Given the description of an element on the screen output the (x, y) to click on. 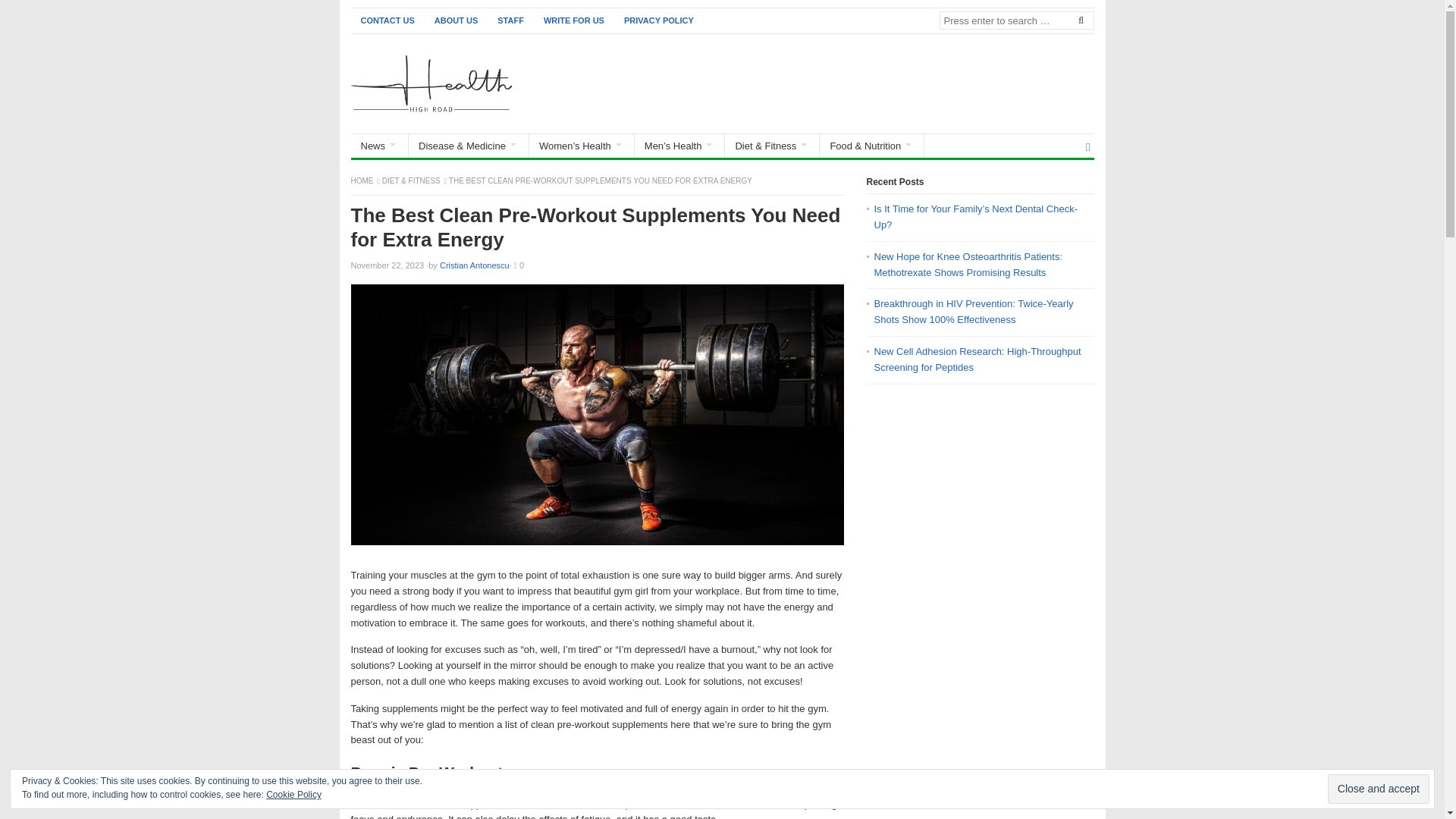
Health Highroad (362, 180)
WRITE FOR US (574, 20)
Close and accept (1378, 788)
STAFF (510, 20)
PRIVACY POLICY (658, 20)
ABOUT US (456, 20)
CONTACT US (386, 20)
Search for: (1016, 20)
